Given the description of an element on the screen output the (x, y) to click on. 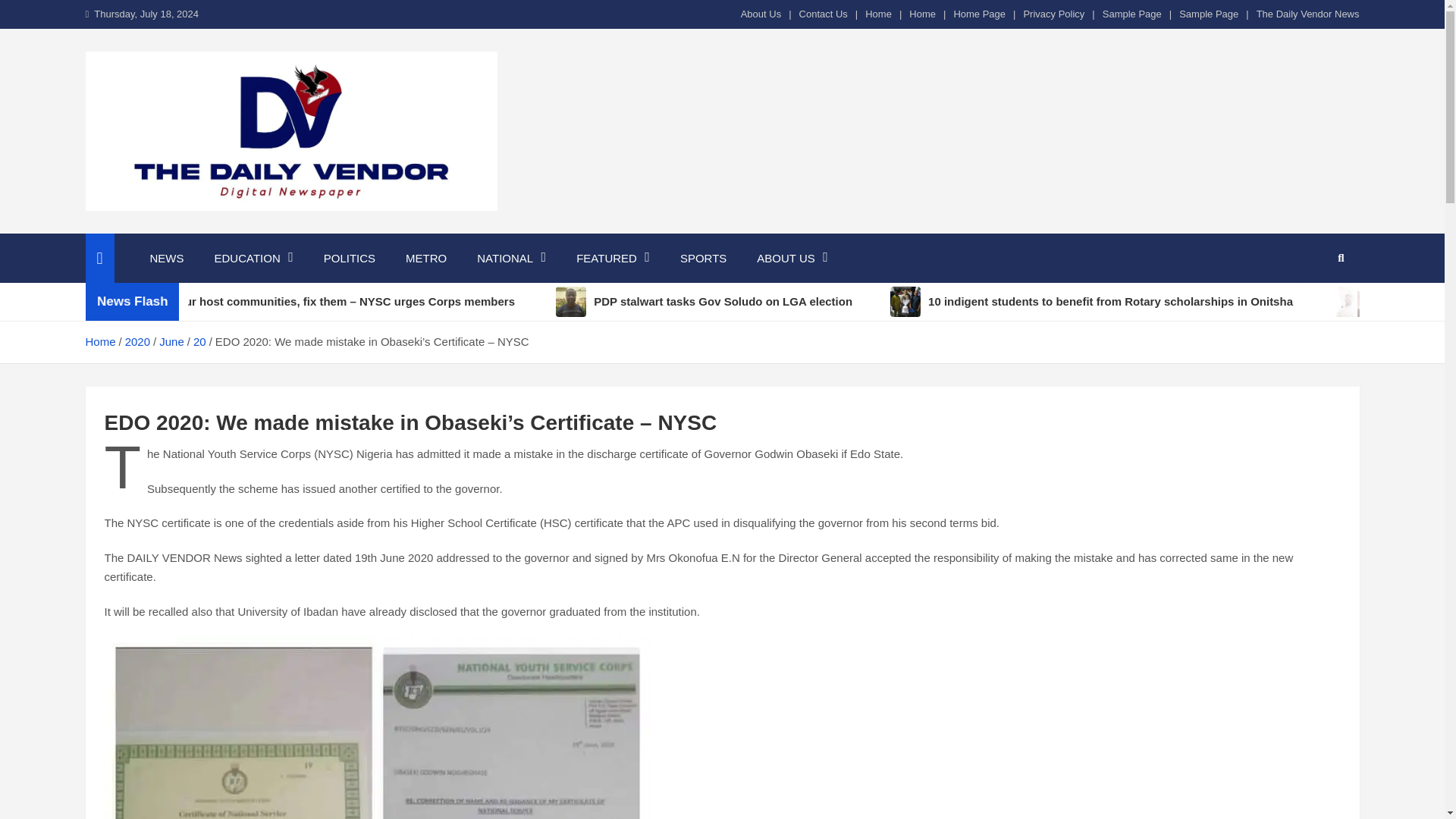
NATIONAL (510, 258)
PDP stalwart tasks Gov Soludo on LGA election (801, 301)
ABOUT US (792, 258)
Home (877, 13)
Contact Us (823, 13)
EDO 2020: We made mistake in Obaseki's Certificate - NYSC 1 (377, 727)
NEWS (167, 258)
SPORTS (703, 258)
Home Page (979, 13)
The Daily Vendor News (1307, 13)
METRO (425, 258)
FEATURED (612, 258)
Sample Page (1209, 13)
About Us (760, 13)
